Given the description of an element on the screen output the (x, y) to click on. 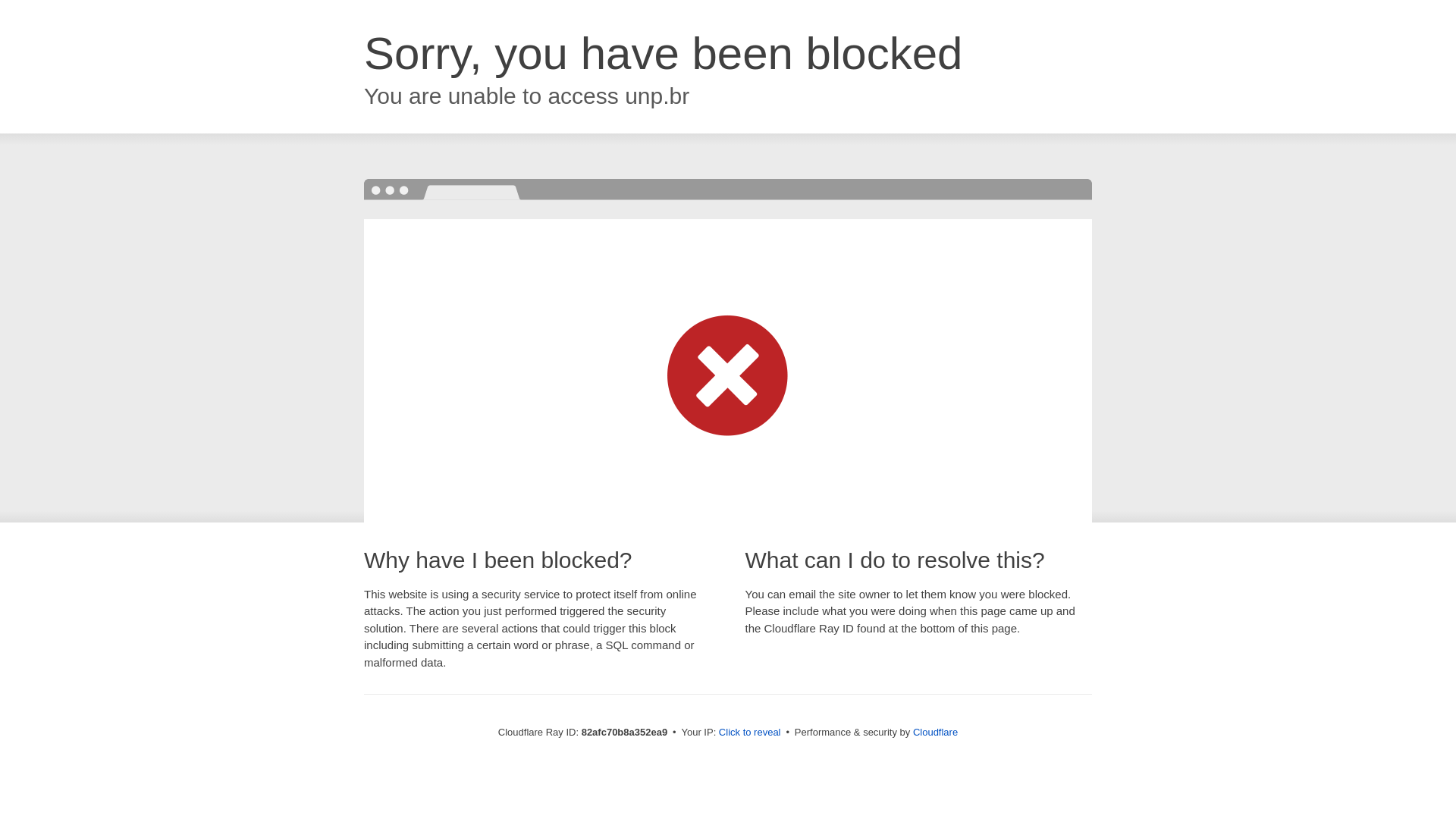
Cloudflare Element type: text (935, 731)
Click to reveal Element type: text (749, 732)
